Given the description of an element on the screen output the (x, y) to click on. 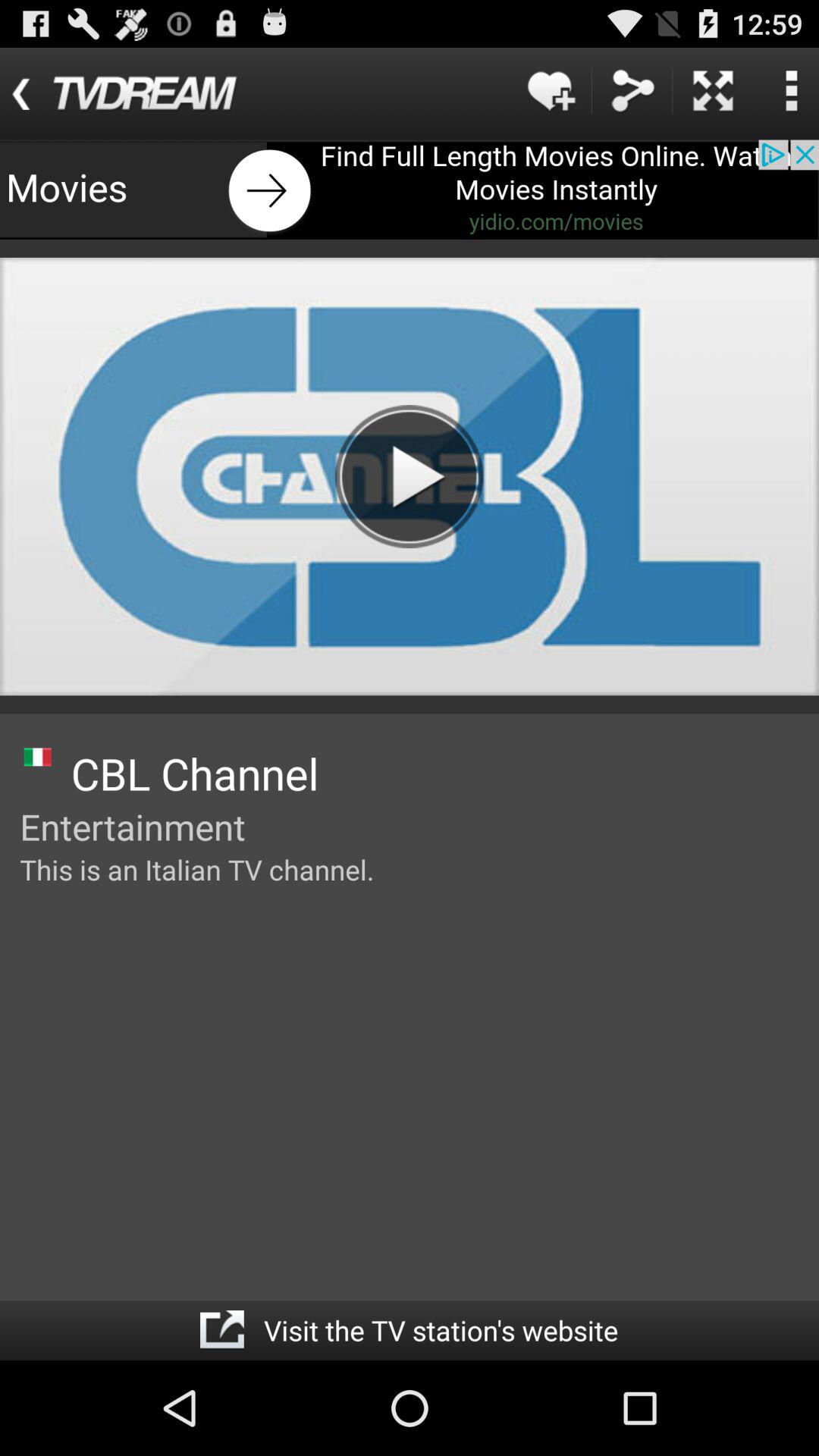
click to play option (408, 476)
